Given the description of an element on the screen output the (x, y) to click on. 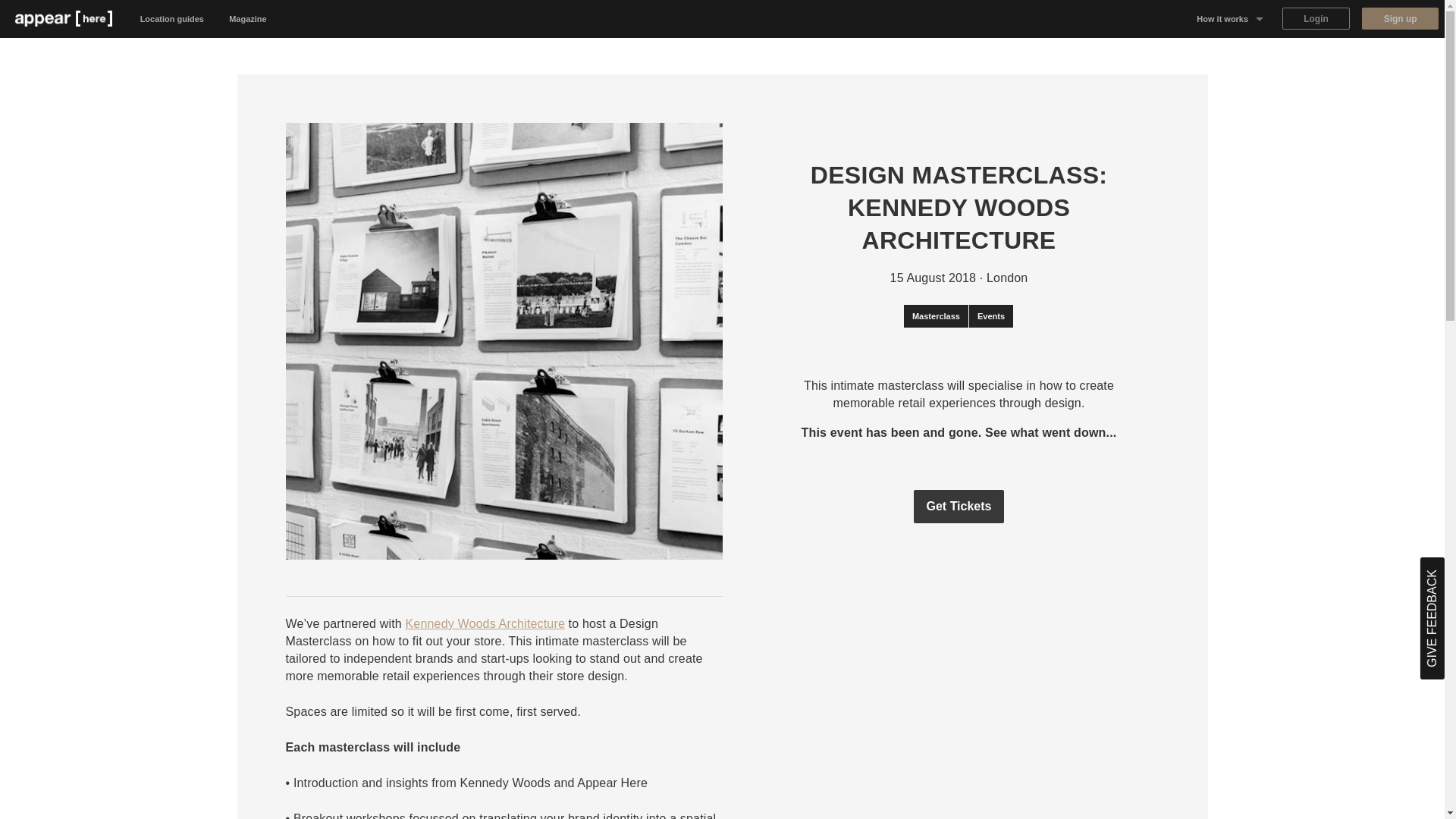
Why Appear Here (1230, 56)
Magazine (247, 18)
How it works (1230, 18)
Location guides (172, 18)
